Given the description of an element on the screen output the (x, y) to click on. 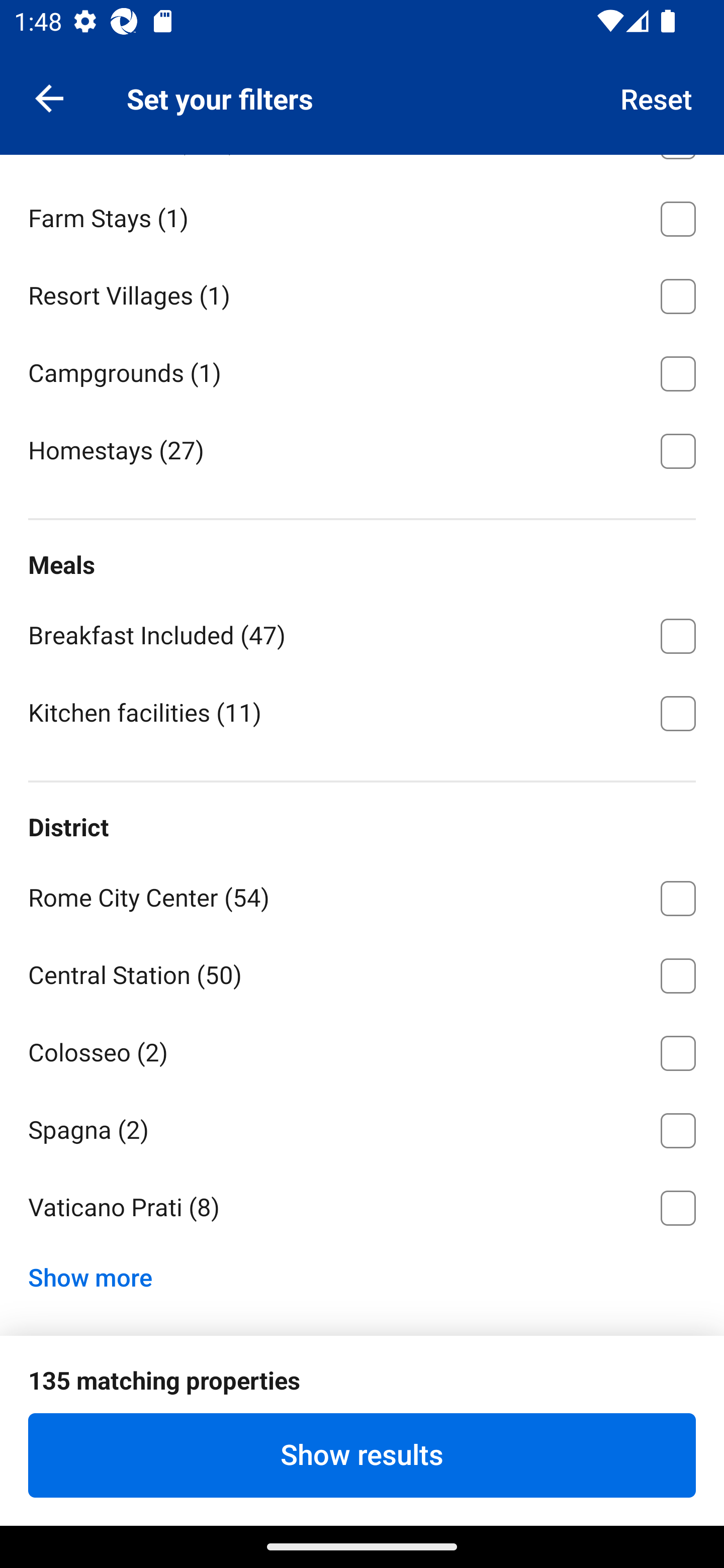
Navigate up (49, 97)
Reset (656, 97)
Farm Stays ⁦(1) (361, 215)
Resort Villages ⁦(1) (361, 293)
Campgrounds ⁦(1) (361, 370)
Homestays ⁦(27) (361, 449)
Breakfast Included ⁦(47) (361, 632)
Kitchen facilities ⁦(11) (361, 711)
Rome City Center ⁦(54) (361, 895)
Central Station ⁦(50) (361, 972)
Colosseo ⁦(2) (361, 1049)
Spagna ⁦(2) (361, 1127)
Vaticano Prati ⁦(8) (361, 1207)
Show more (97, 1272)
Show results (361, 1454)
